Given the description of an element on the screen output the (x, y) to click on. 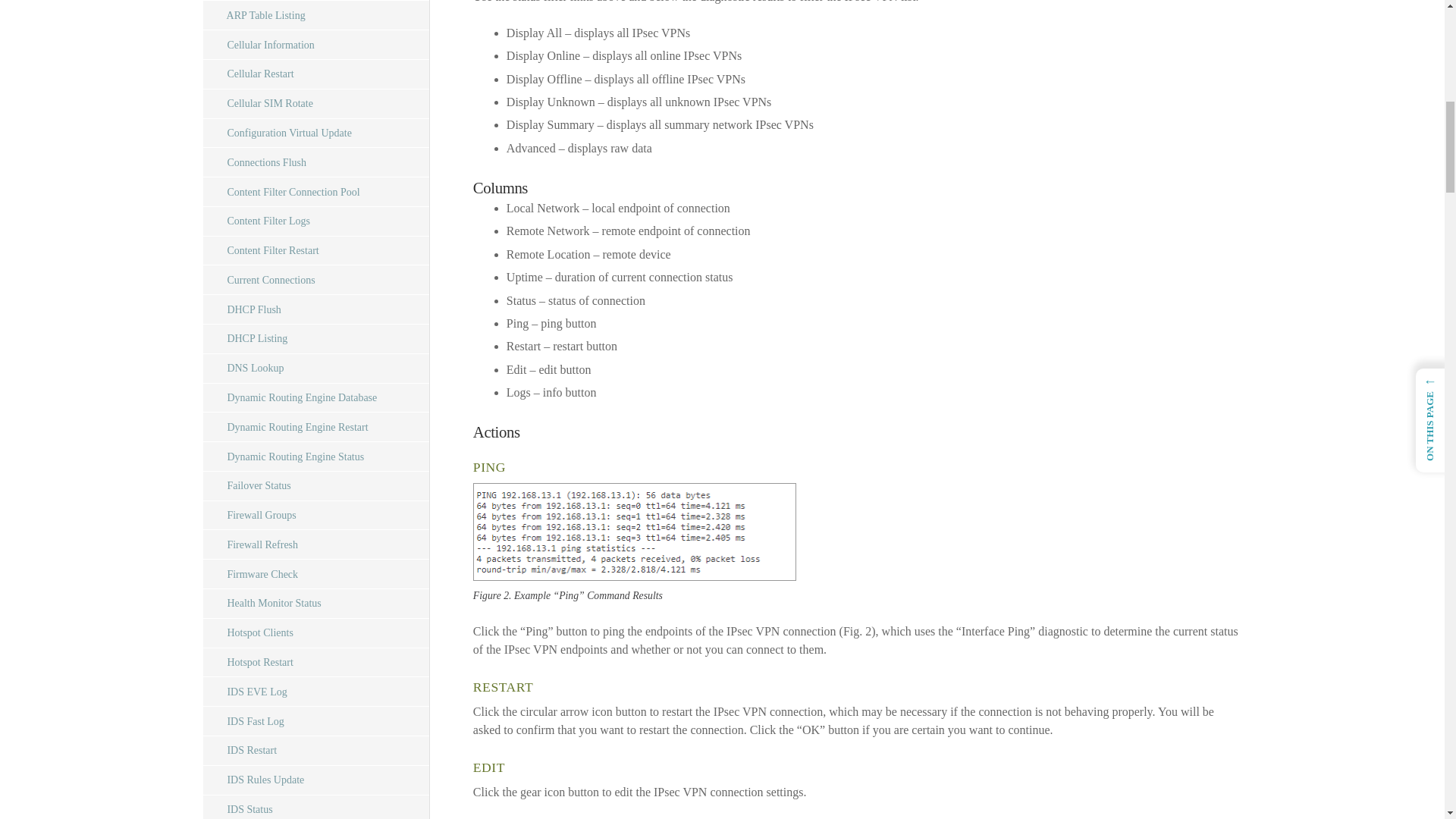
   Configuration Virtual Update (316, 133)
   Content Filter Logs (316, 221)
   Cellular Restart (316, 74)
   Connections Flush (316, 162)
   Cellular SIM Rotate (316, 103)
   Cellular Information (316, 44)
   ARP Table Listing (316, 15)
   Content Filter Connection Pool (316, 192)
